Given the description of an element on the screen output the (x, y) to click on. 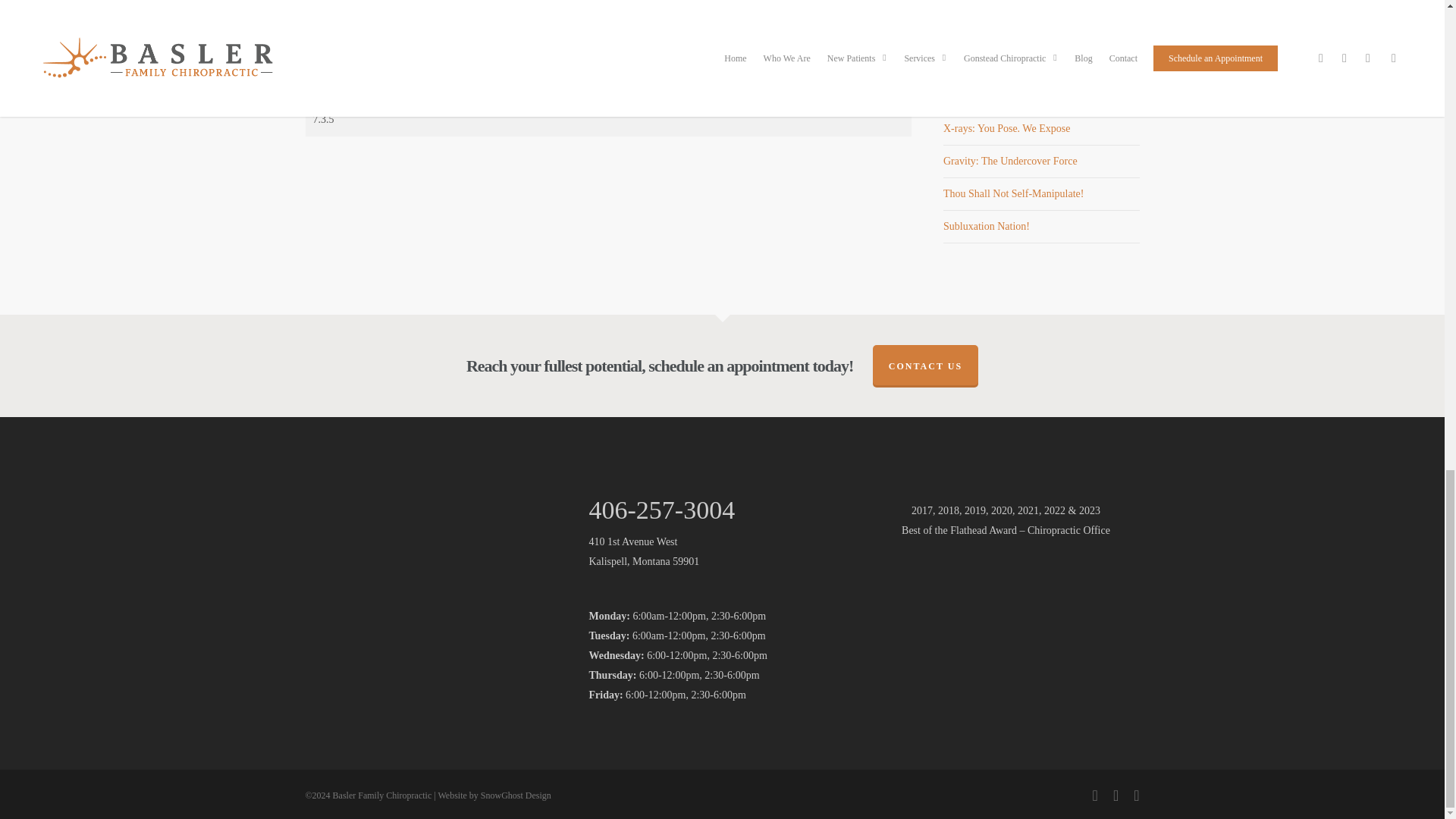
7.3.5 (607, 119)
Submit Comment (356, 46)
